Given the description of an element on the screen output the (x, y) to click on. 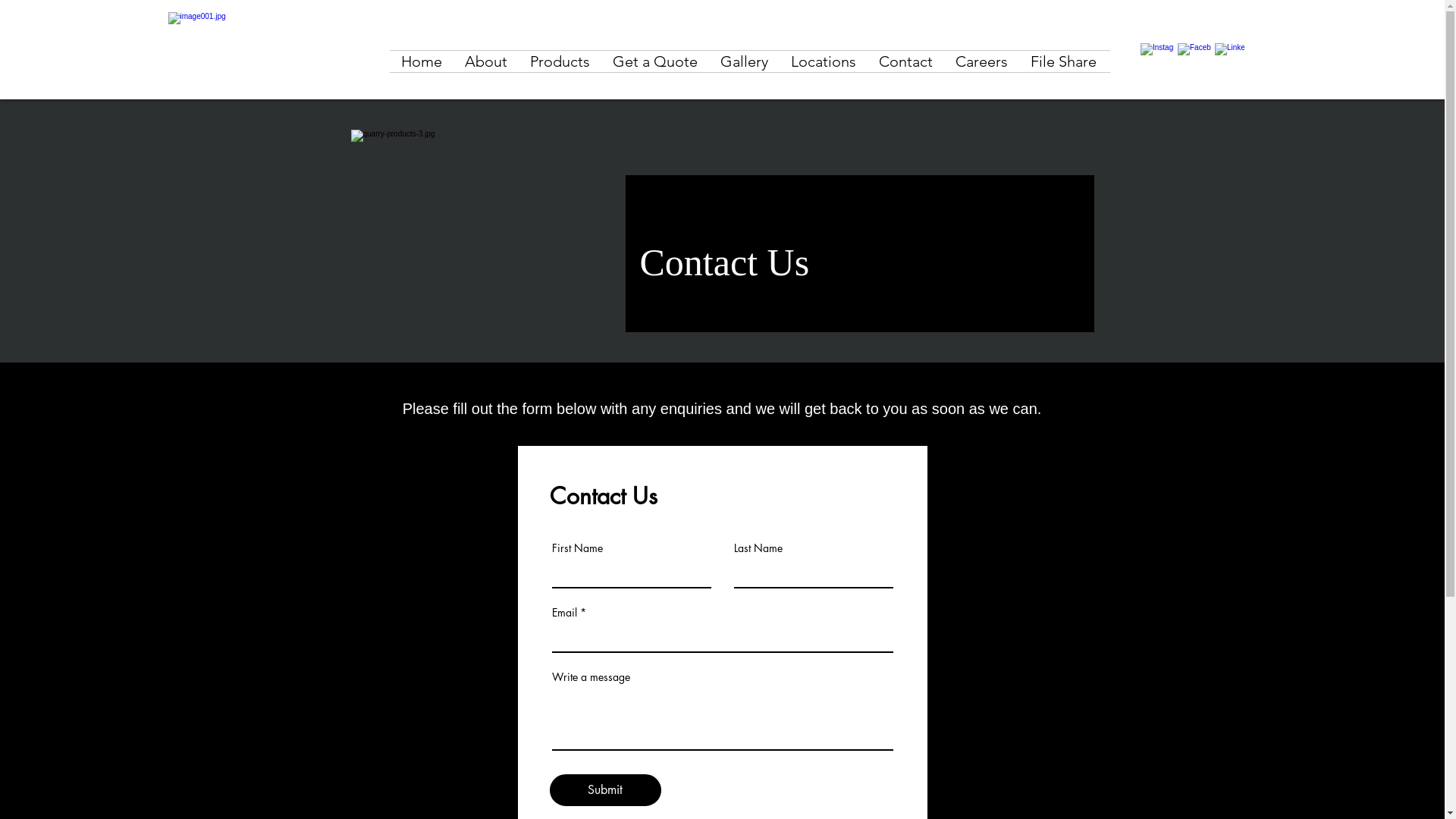
Contact Element type: text (905, 61)
About Element type: text (485, 61)
Submit Element type: text (604, 790)
File Share Element type: text (1063, 61)
Get a Quote Element type: text (655, 61)
Locations Element type: text (823, 61)
Home Element type: text (421, 61)
Gallery Element type: text (744, 61)
Products Element type: text (559, 61)
Careers Element type: text (981, 61)
